Given the description of an element on the screen output the (x, y) to click on. 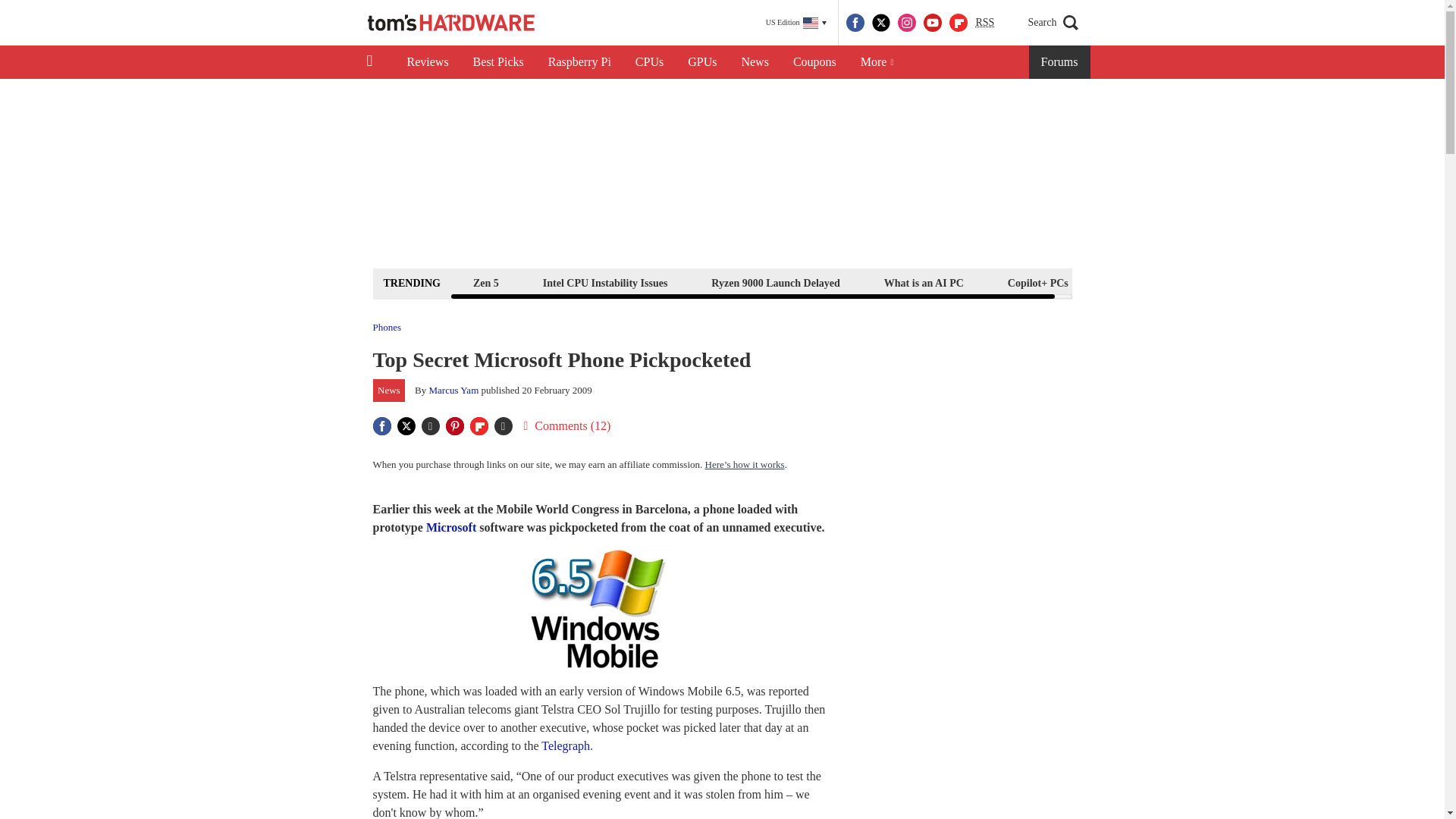
RSS (984, 22)
Zen 5 (485, 282)
Reviews (427, 61)
CPUs (649, 61)
US Edition (796, 22)
Coupons (814, 61)
Best Picks (498, 61)
Raspberry Pi (579, 61)
Forums (1059, 61)
GPUs (702, 61)
News (754, 61)
Really Simple Syndication (984, 21)
